Given the description of an element on the screen output the (x, y) to click on. 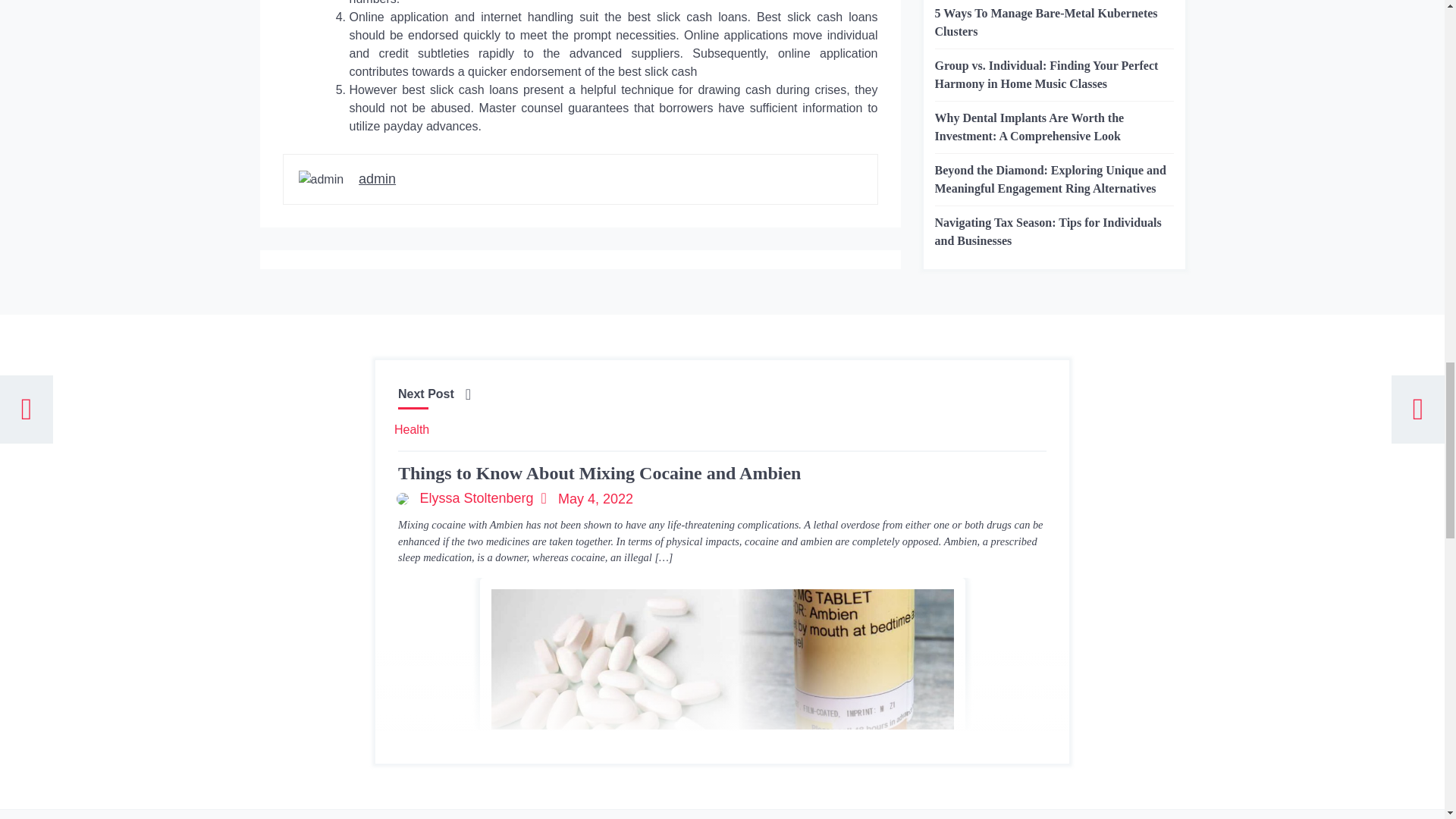
admin (377, 178)
